Given the description of an element on the screen output the (x, y) to click on. 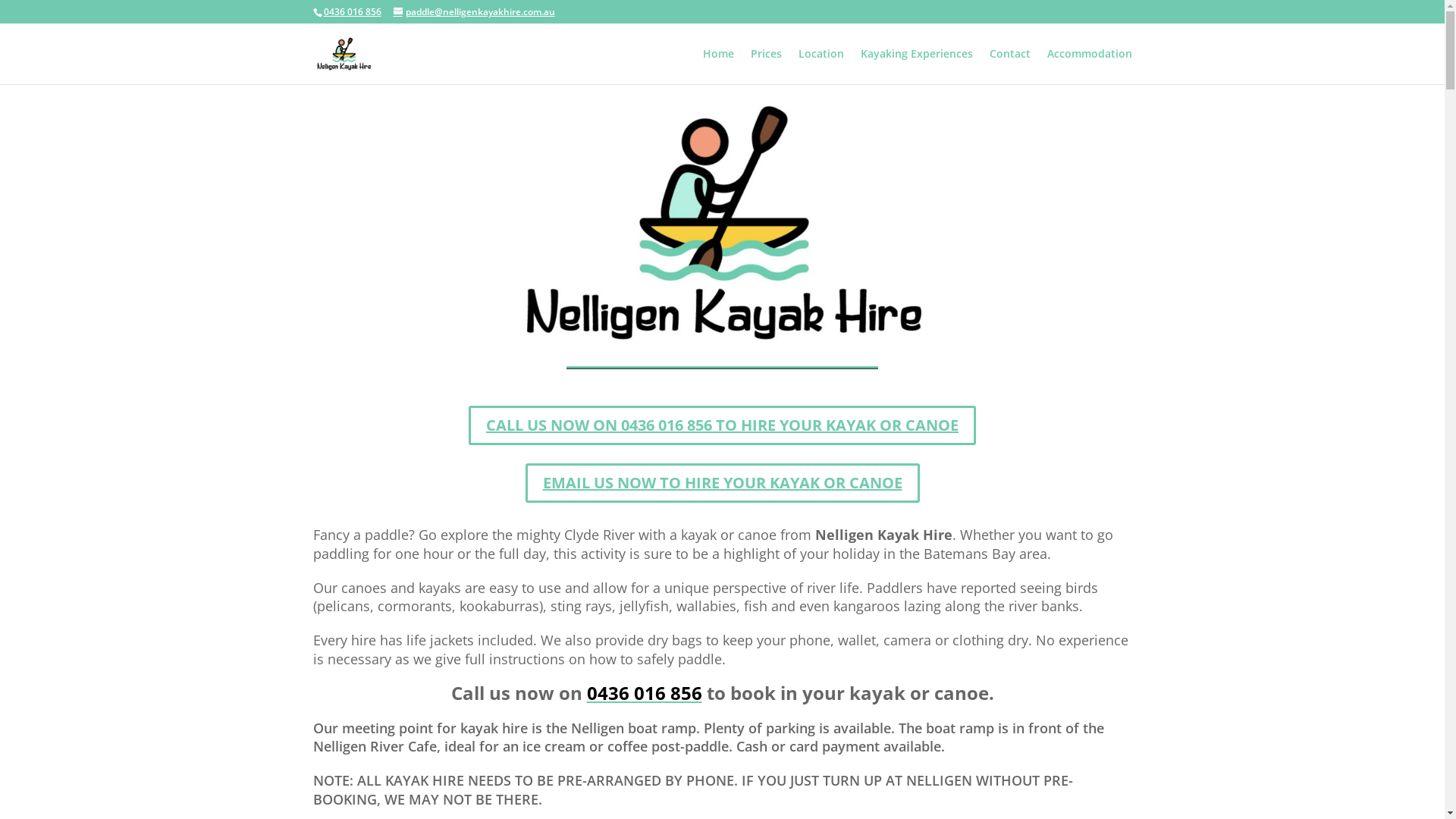
CALL US NOW ON 0436 016 856 TO HIRE YOUR KAYAK OR CANOE Element type: text (721, 425)
Prices Element type: text (765, 66)
Location Element type: text (820, 66)
0436 016 856 Element type: text (351, 11)
Accommodation Element type: text (1088, 66)
Home Element type: text (717, 66)
Contact Element type: text (1008, 66)
paddle@nelligenkayakhire.com.au Element type: text (473, 11)
EMAIL US NOW TO HIRE YOUR KAYAK OR CANOE Element type: text (721, 482)
Kayaking Experiences Element type: text (915, 66)
0436 016 856 Element type: text (644, 692)
